Given the description of an element on the screen output the (x, y) to click on. 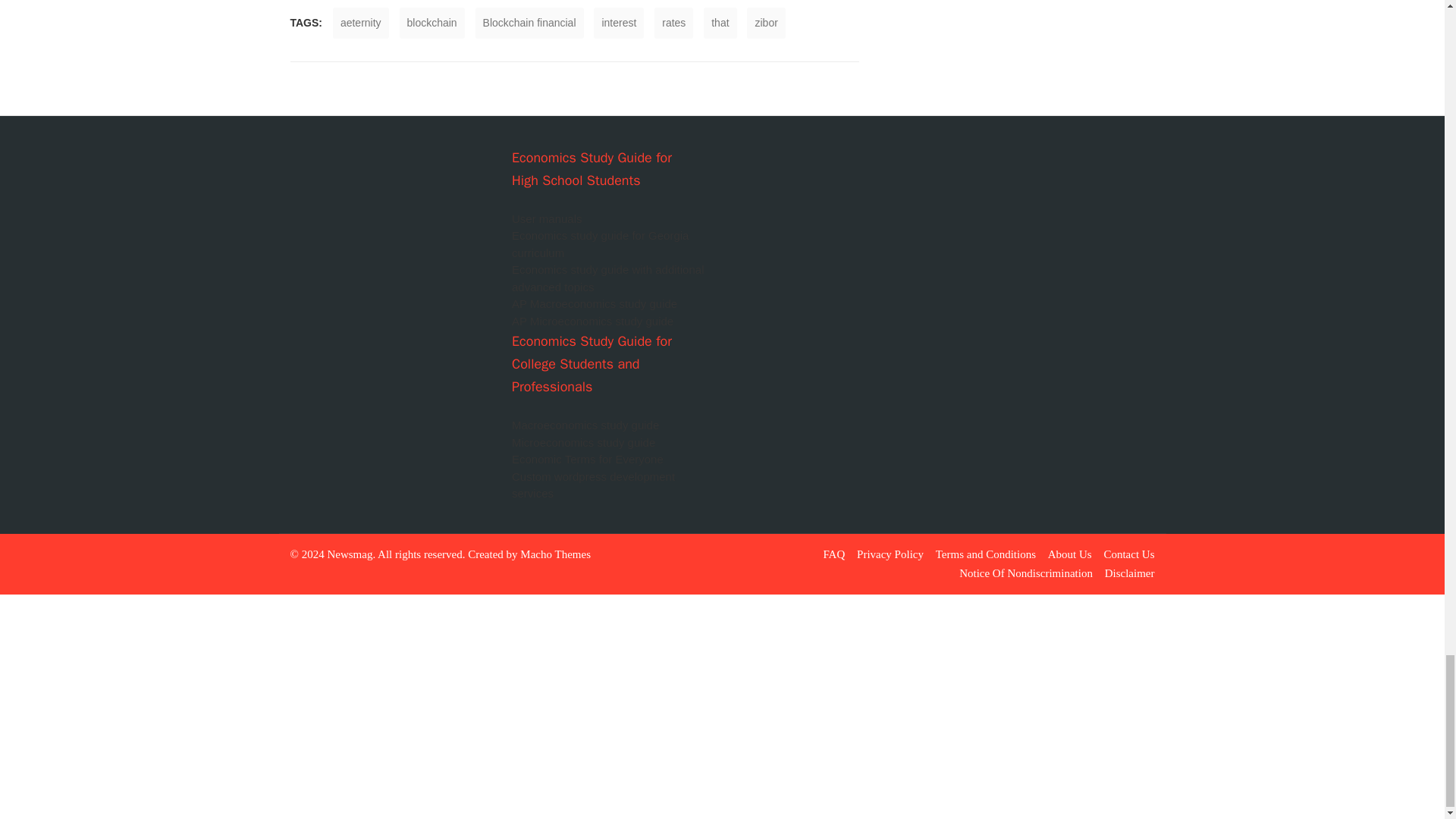
zibor (765, 22)
aeternity (360, 22)
interest (618, 22)
blockchain (431, 22)
that (719, 22)
Blockchain financial (529, 22)
rates (673, 22)
Professional WordPress Themes (555, 553)
